Given the description of an element on the screen output the (x, y) to click on. 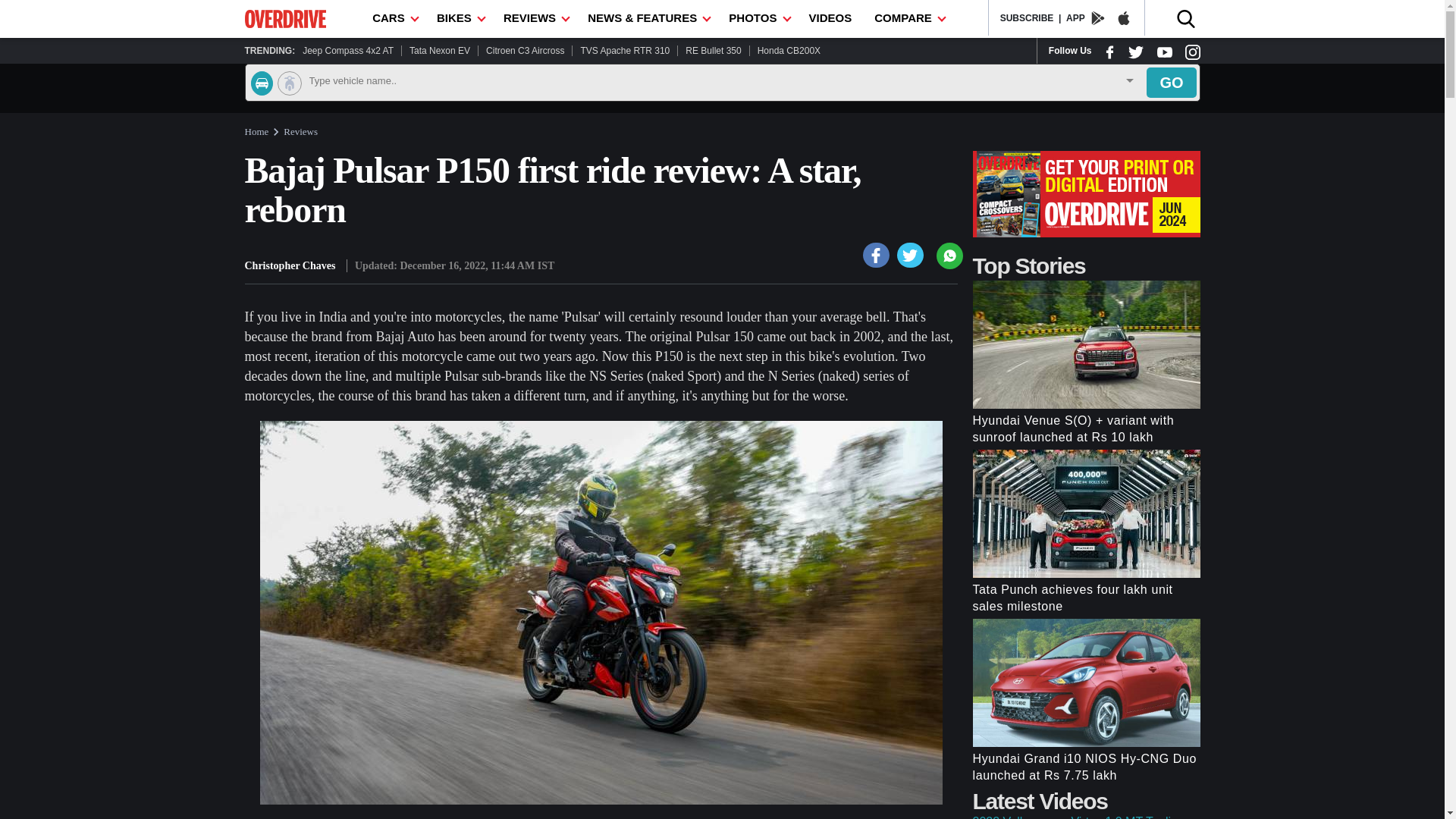
Bajaj Pulsar P150 first ride review: A star, reborn (909, 254)
PHOTOS (756, 18)
Bajaj Pulsar P150 first ride review: A star, reborn (876, 254)
CARS (393, 18)
REVIEWS (534, 18)
BIKES (458, 18)
